Given the description of an element on the screen output the (x, y) to click on. 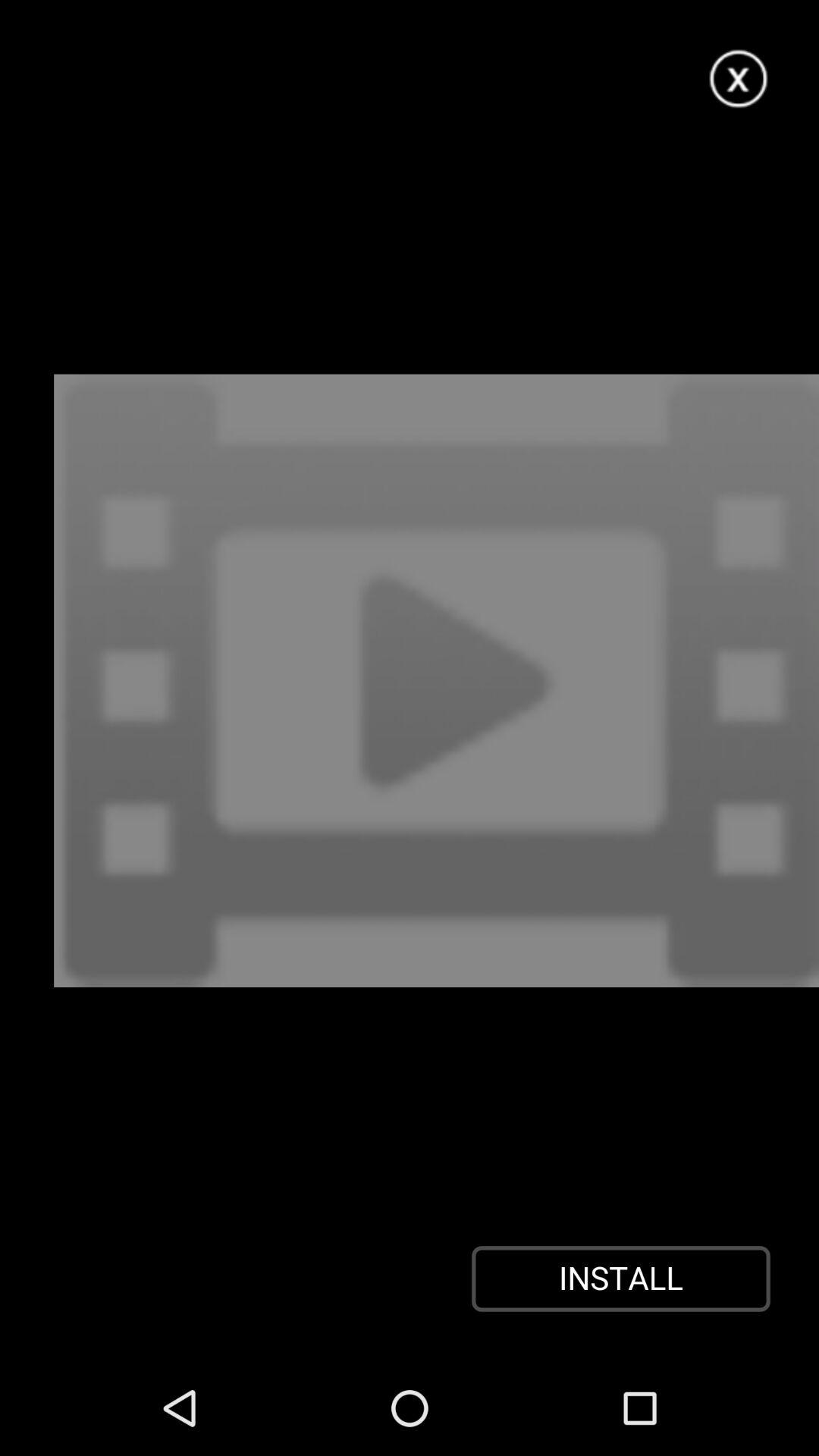
close this page (739, 79)
